Given the description of an element on the screen output the (x, y) to click on. 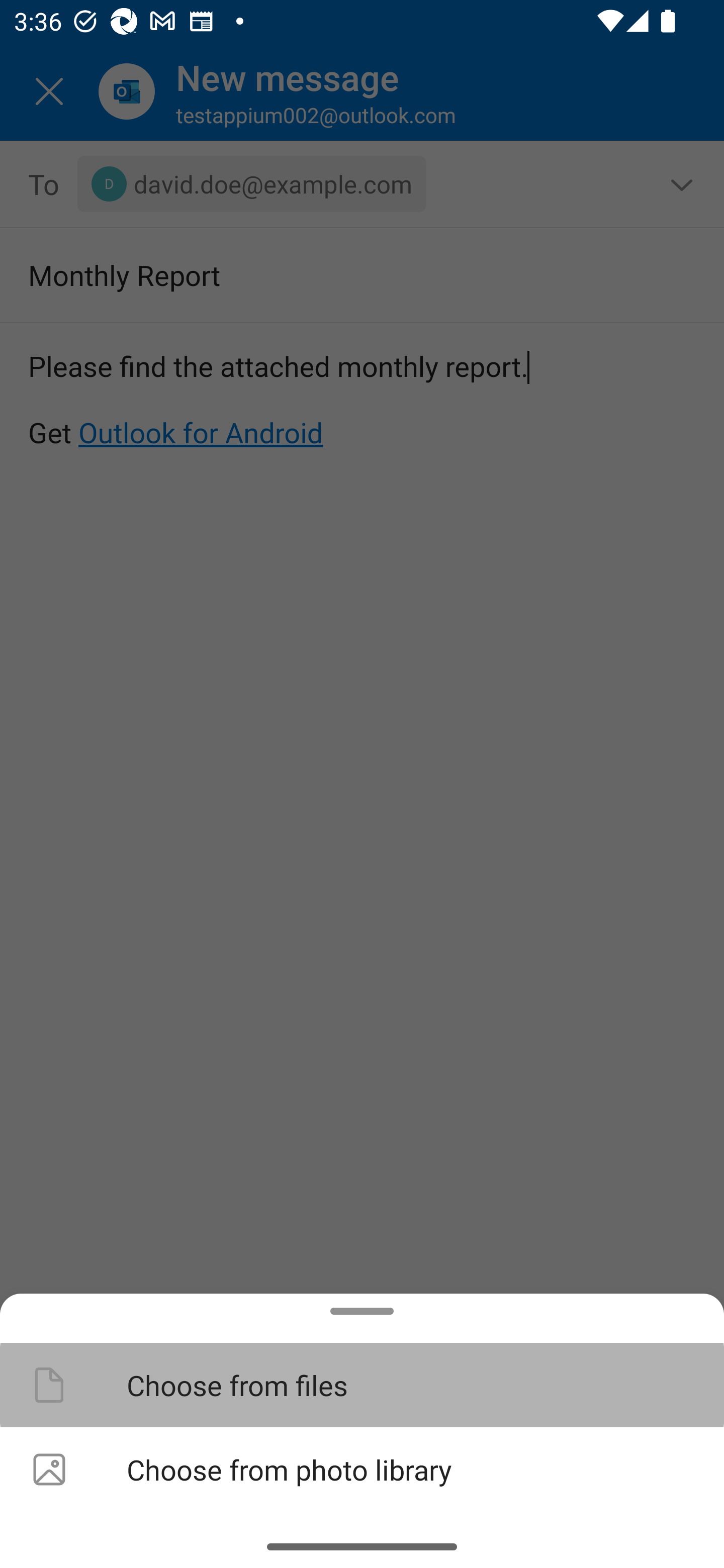
Choose from files (362, 1384)
Choose from photo library (362, 1468)
